Given the description of an element on the screen output the (x, y) to click on. 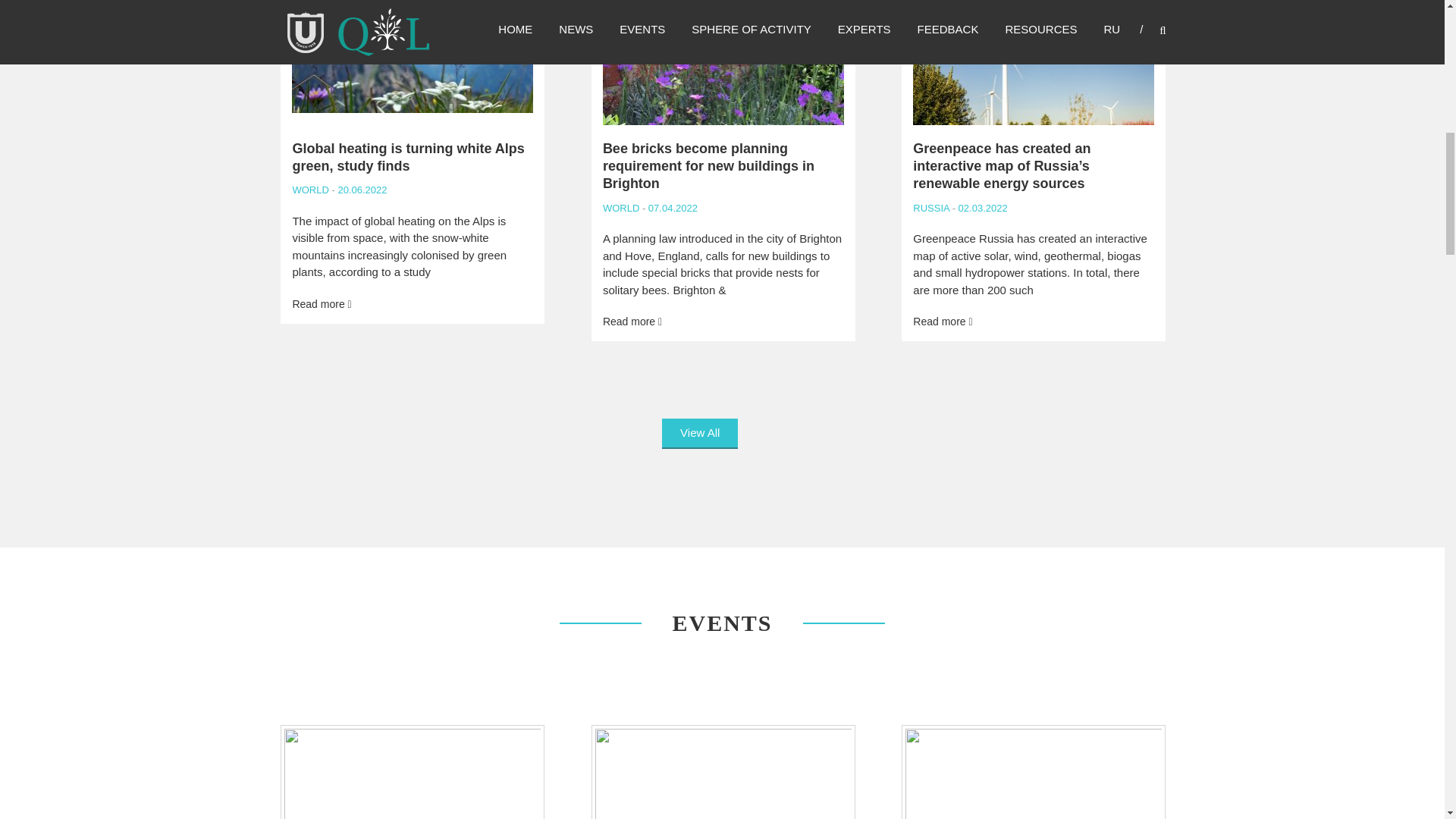
09:32 (360, 189)
07.04.2022 (671, 207)
WORLD (620, 207)
Read more (942, 321)
Read more (321, 304)
View All (700, 433)
Global heating is turning white Alps green, study finds (408, 156)
Global heating is turning white Alps green, study finds (321, 304)
WORLD (310, 189)
